Given the description of an element on the screen output the (x, y) to click on. 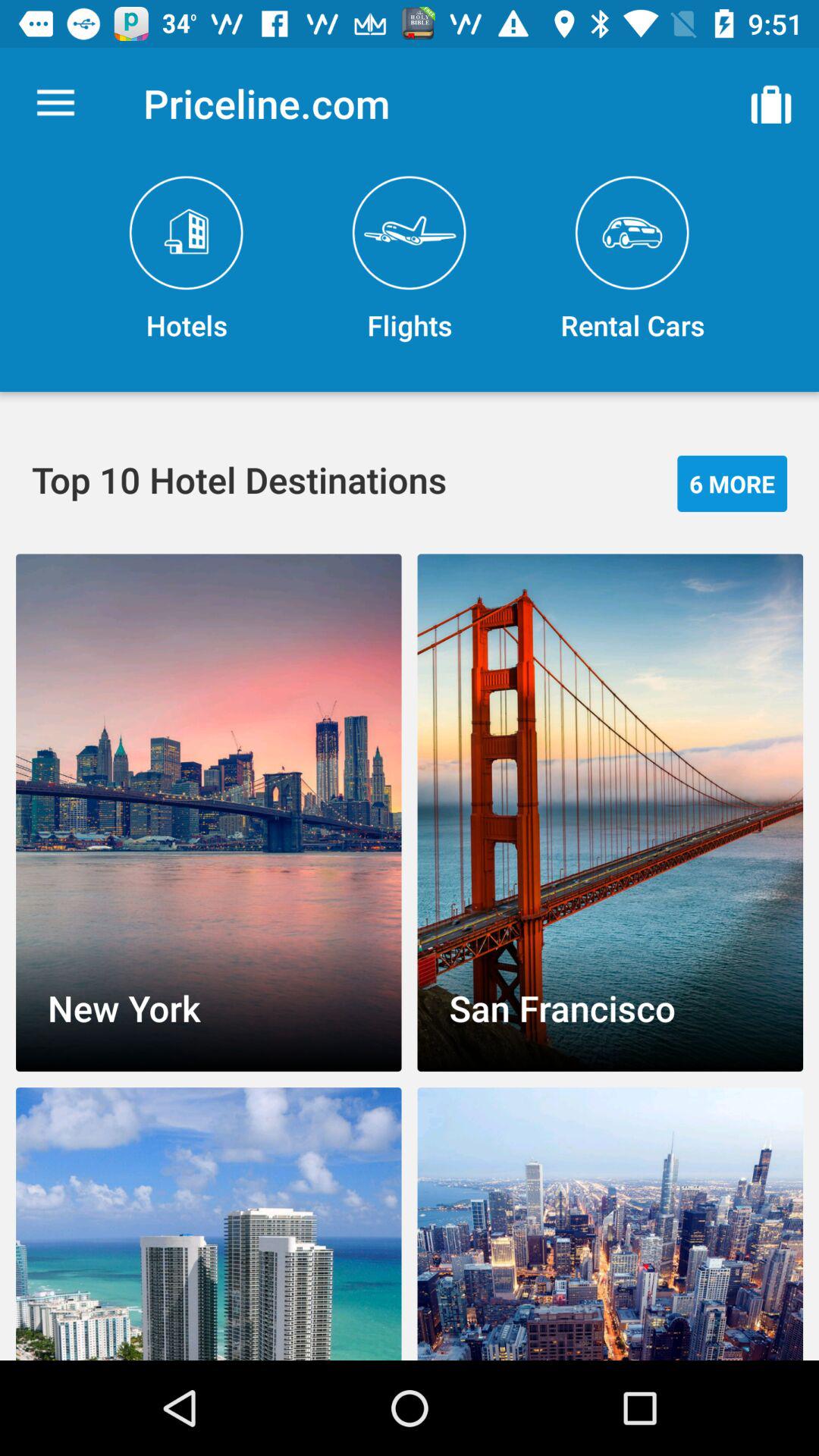
launch the item next to flights icon (186, 259)
